Given the description of an element on the screen output the (x, y) to click on. 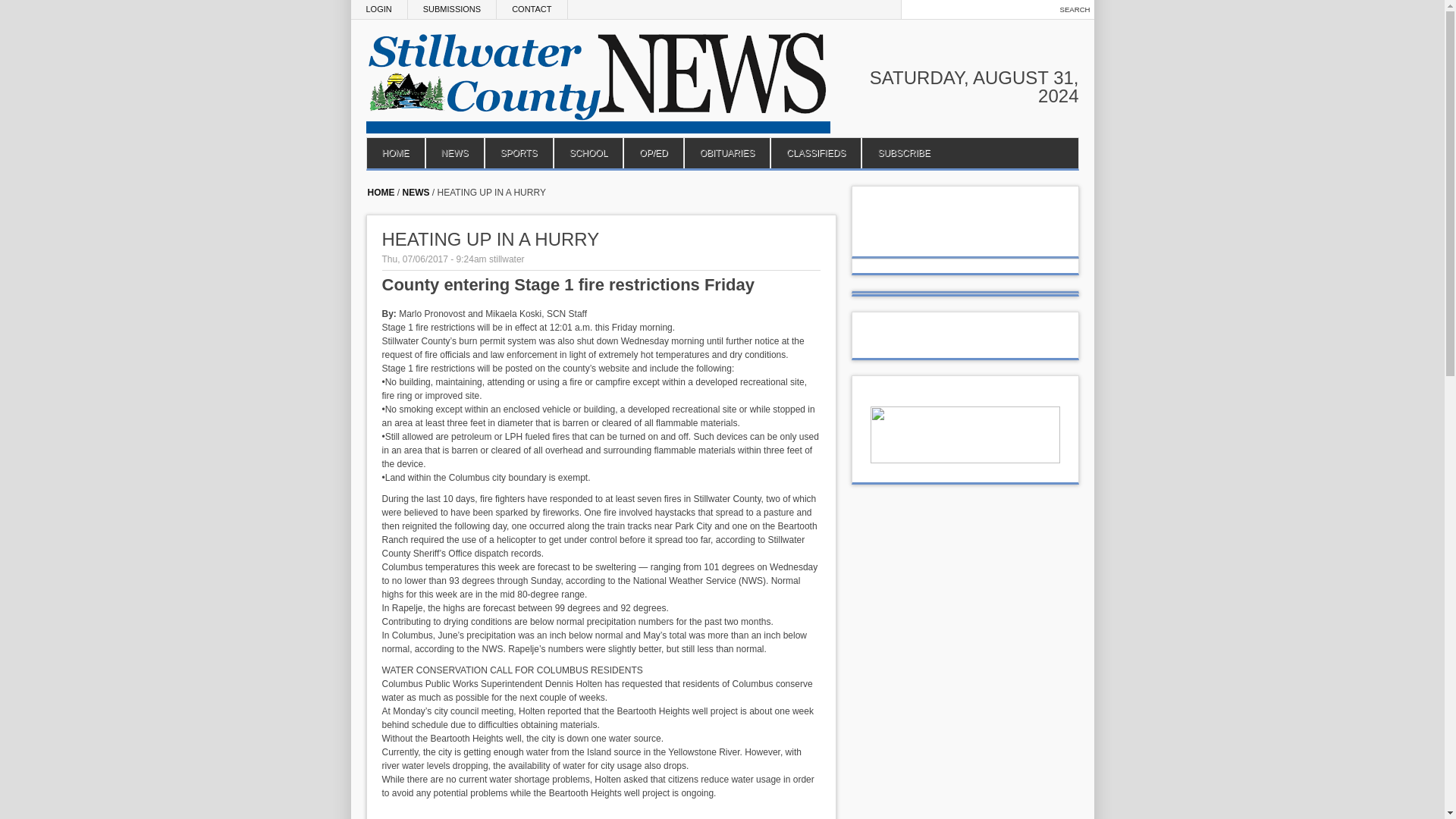
Search (1075, 9)
SUBSCRIBE (902, 153)
SUBMISSIONS (451, 9)
School (588, 153)
SCHOOL (588, 153)
HOME (380, 192)
SPORTS (518, 153)
News (454, 153)
The latest columbus weather (965, 240)
HOME (395, 153)
